Given the description of an element on the screen output the (x, y) to click on. 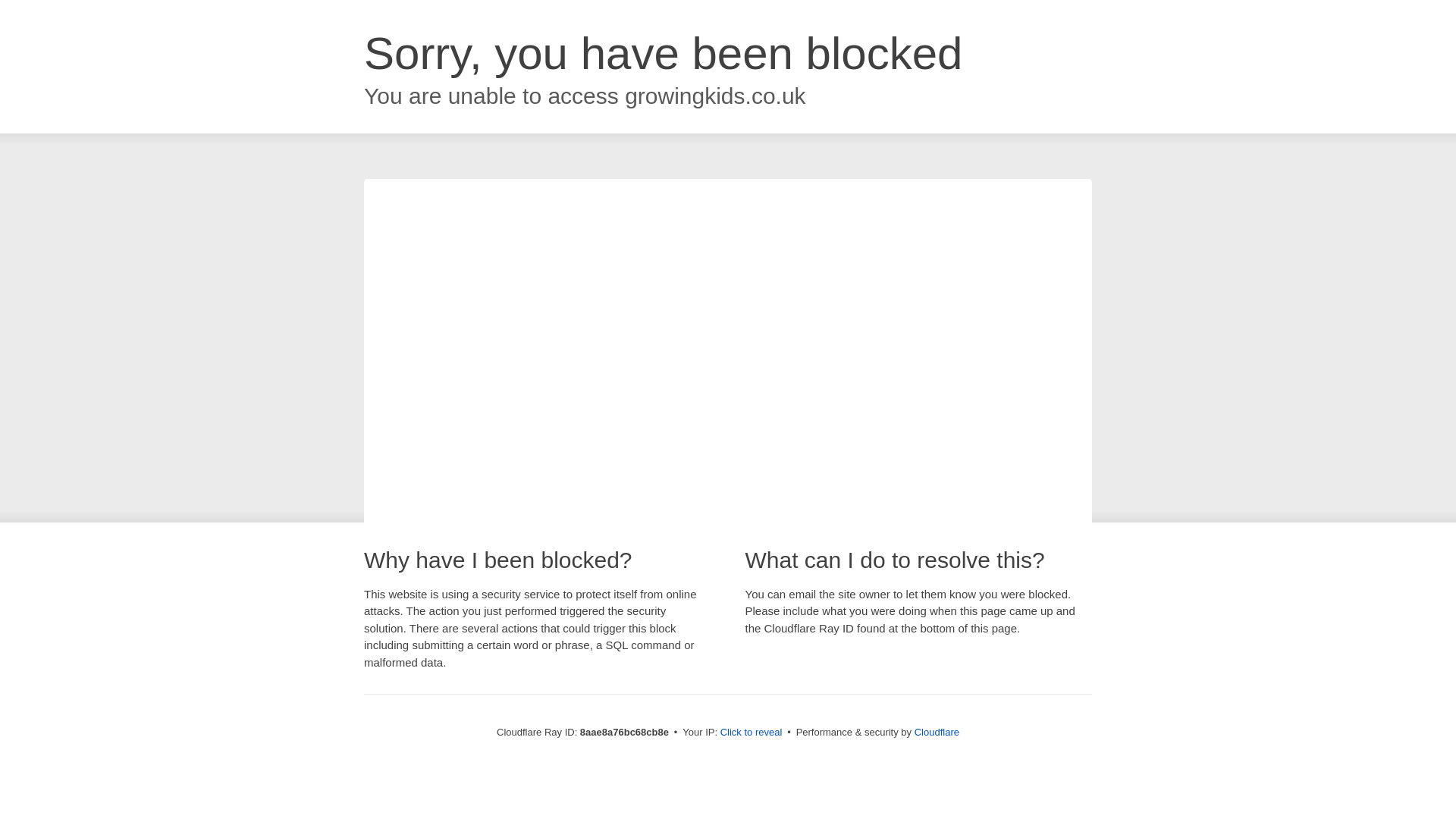
Cloudflare (936, 731)
Click to reveal (751, 732)
